Given the description of an element on the screen output the (x, y) to click on. 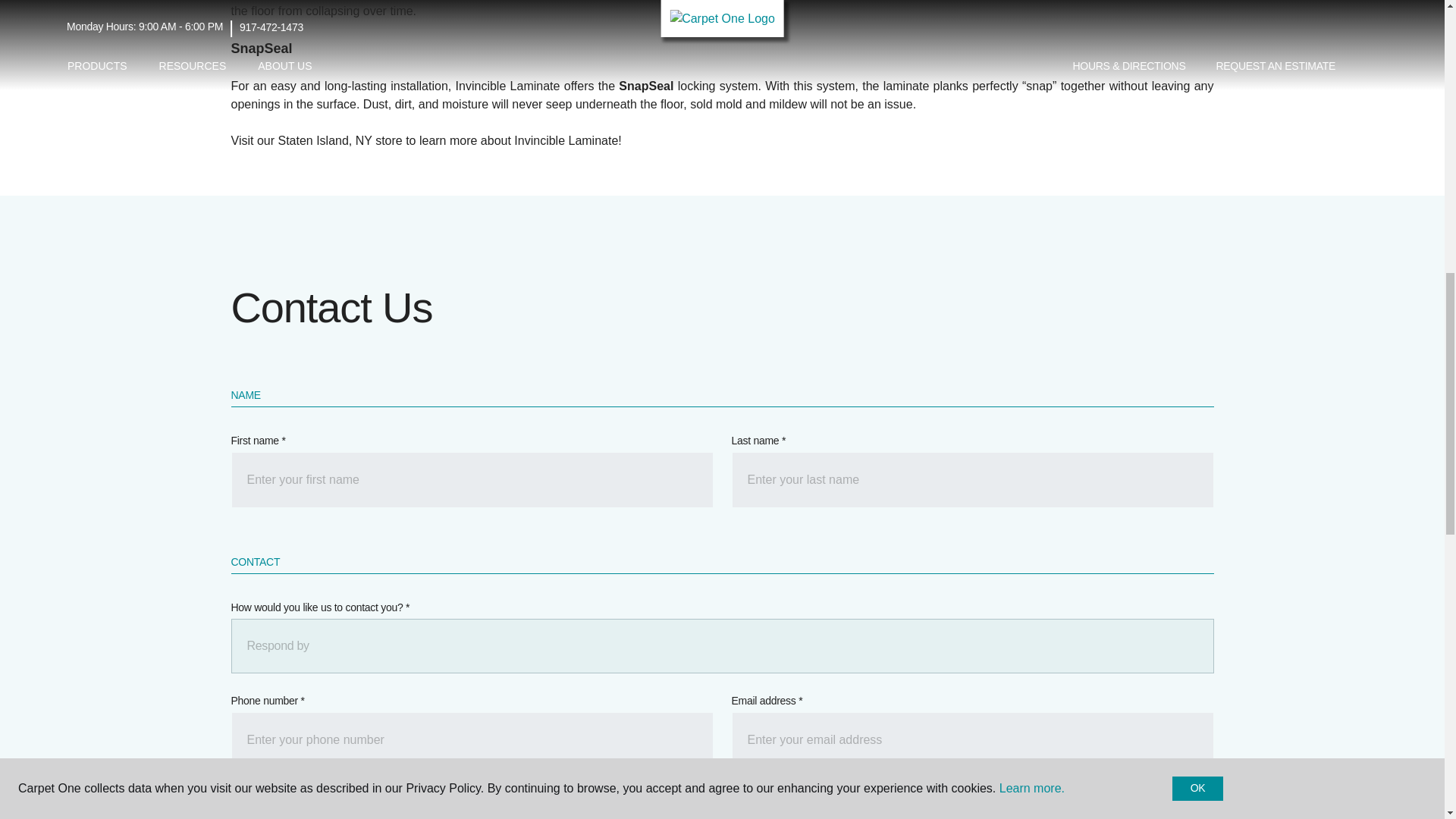
EmailAddress (971, 739)
FirstName (471, 479)
LastName (971, 479)
PostalCode (471, 812)
CleanHomePhone (471, 739)
